Given the description of an element on the screen output the (x, y) to click on. 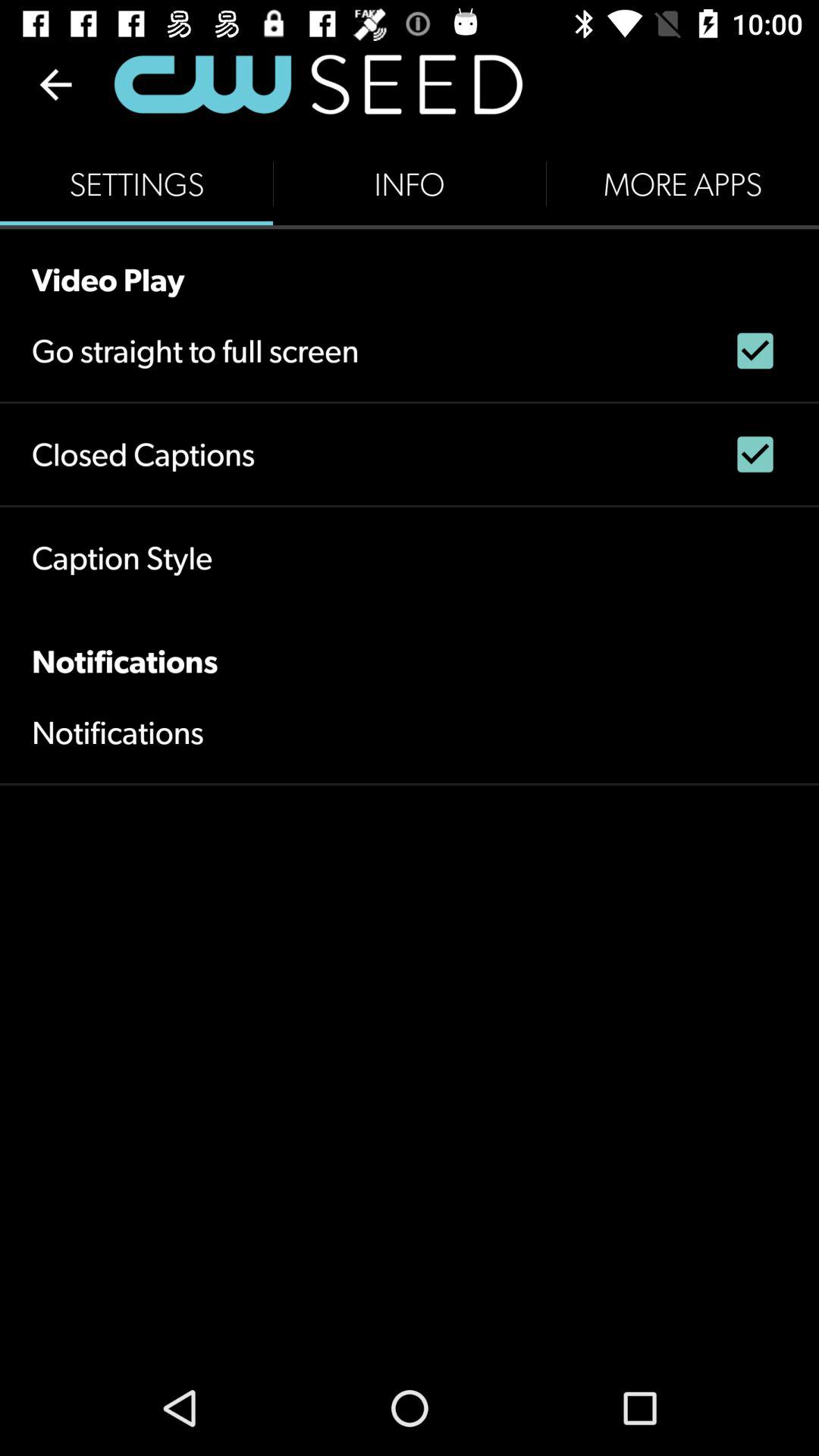
press the icon to the left of more apps item (409, 184)
